Given the description of an element on the screen output the (x, y) to click on. 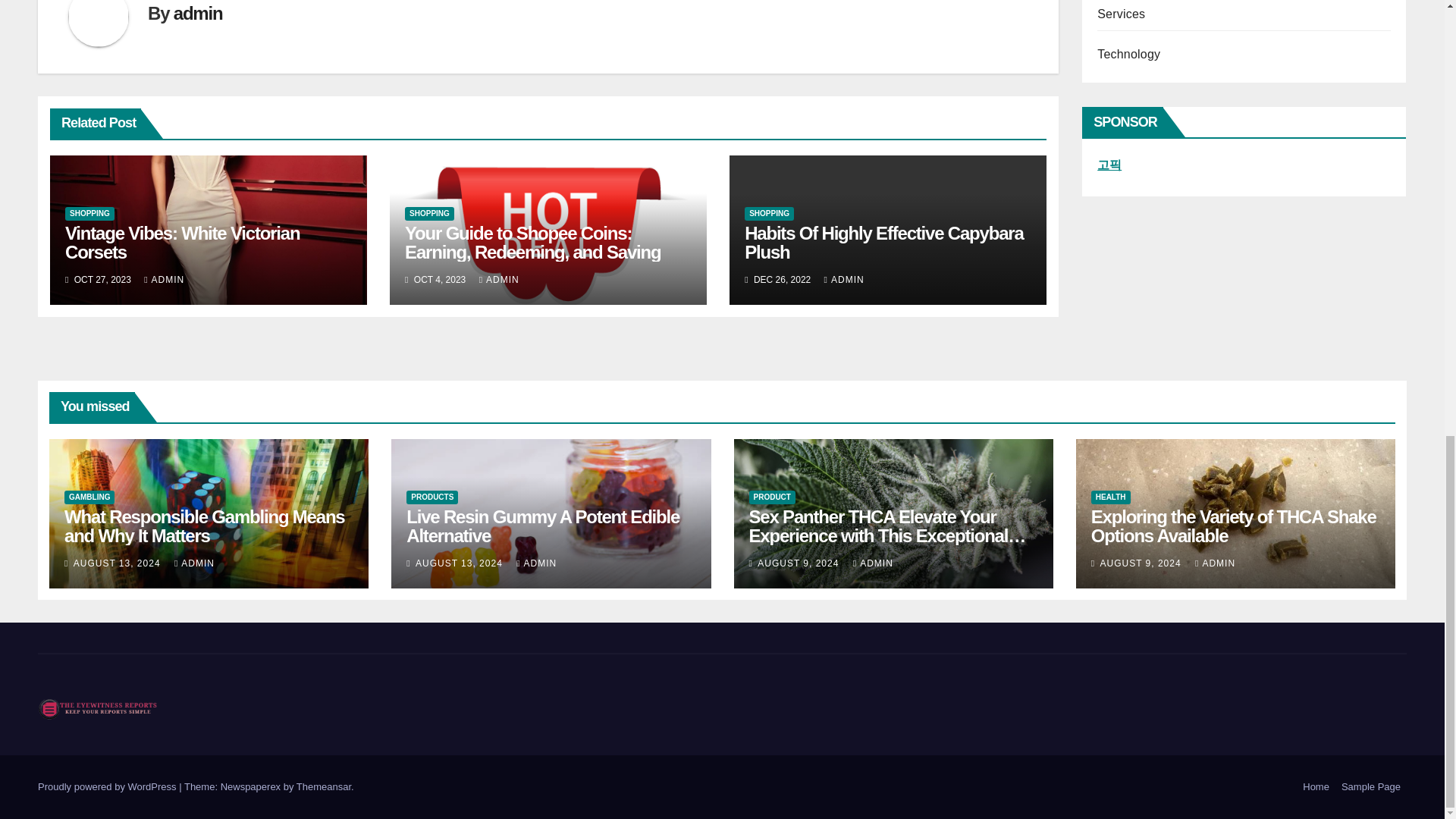
Permalink to: Habits Of Highly Effective Capybara Plush (883, 242)
admin (197, 13)
Permalink to: Vintage Vibes: White Victorian Corsets (182, 242)
Permalink to: Live Resin Gummy A Potent Edible Alternative (542, 526)
